Given the description of an element on the screen output the (x, y) to click on. 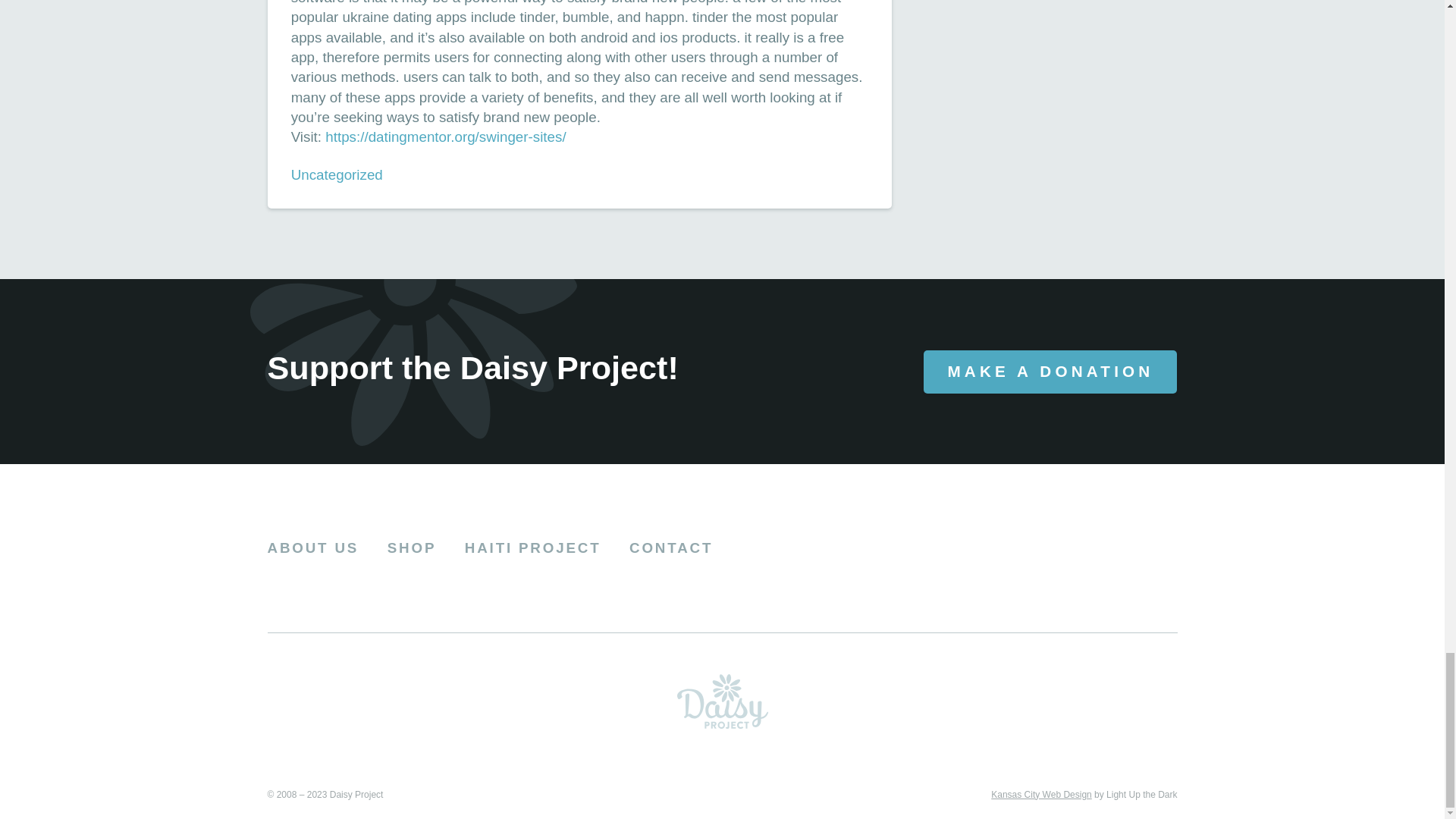
Kansas City Web Design (1041, 794)
Uncategorized (336, 174)
Uncategorized (336, 174)
ABOUT US (312, 548)
SHOP (411, 548)
CONTACT (670, 548)
MAKE A DONATION (1049, 371)
HAITI PROJECT (532, 548)
